Given the description of an element on the screen output the (x, y) to click on. 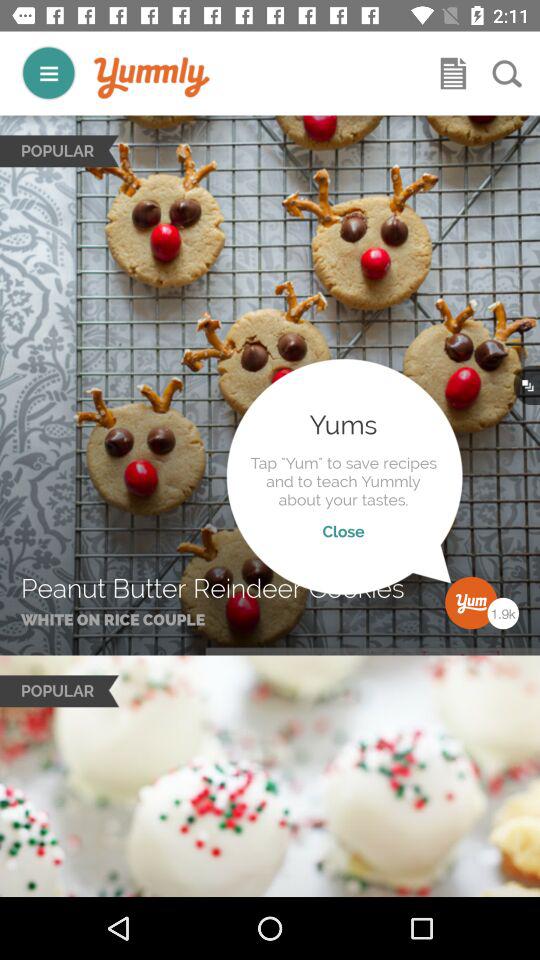
choose icon next to the peanut butter reindeer item (445, 576)
